Given the description of an element on the screen output the (x, y) to click on. 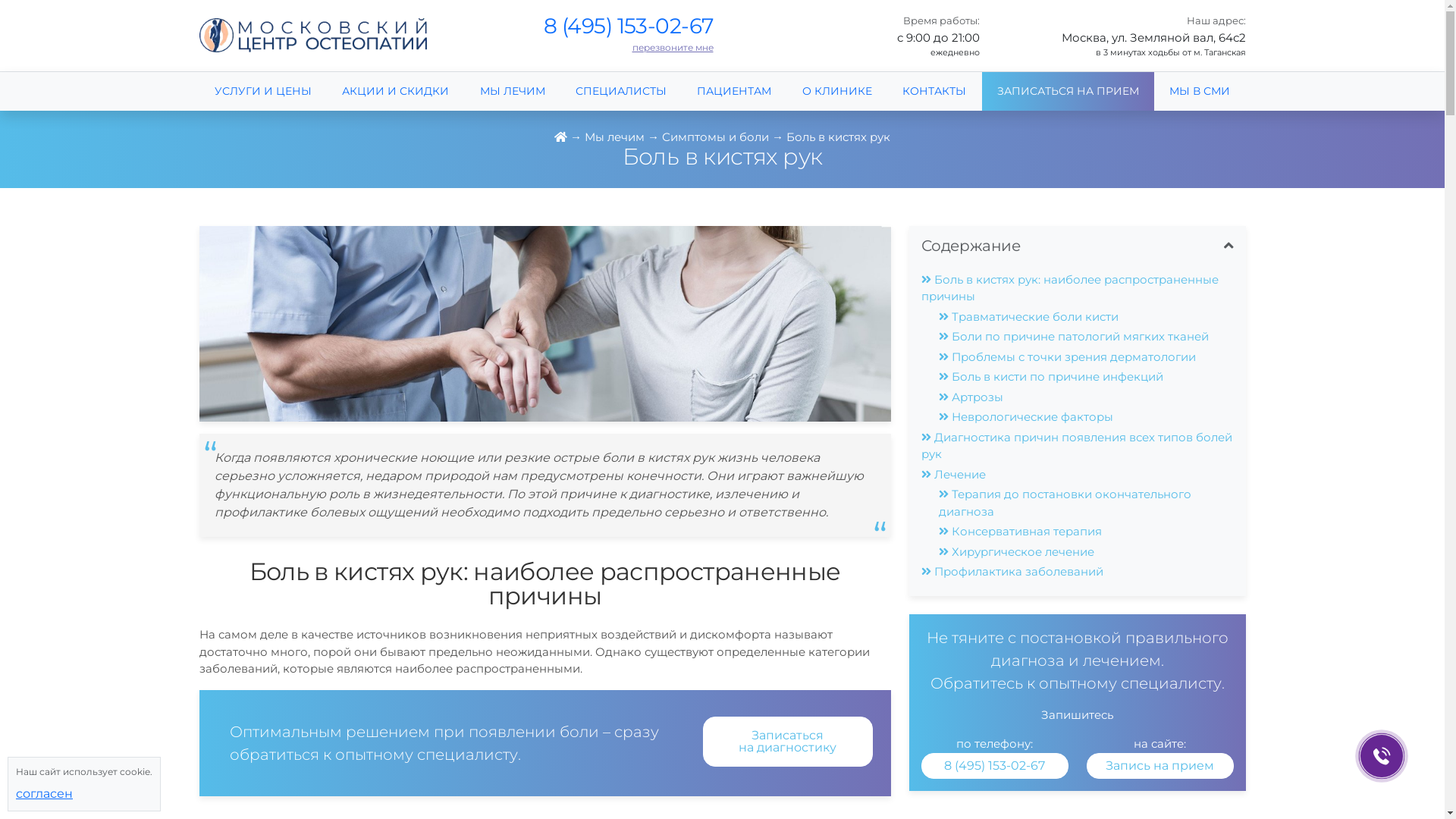
8 (495) 153-02-67 Element type: text (994, 765)
8 (495) 153-02-67 Element type: text (993, 765)
8 (495) 153-02-67 Element type: text (627, 25)
